Given the description of an element on the screen output the (x, y) to click on. 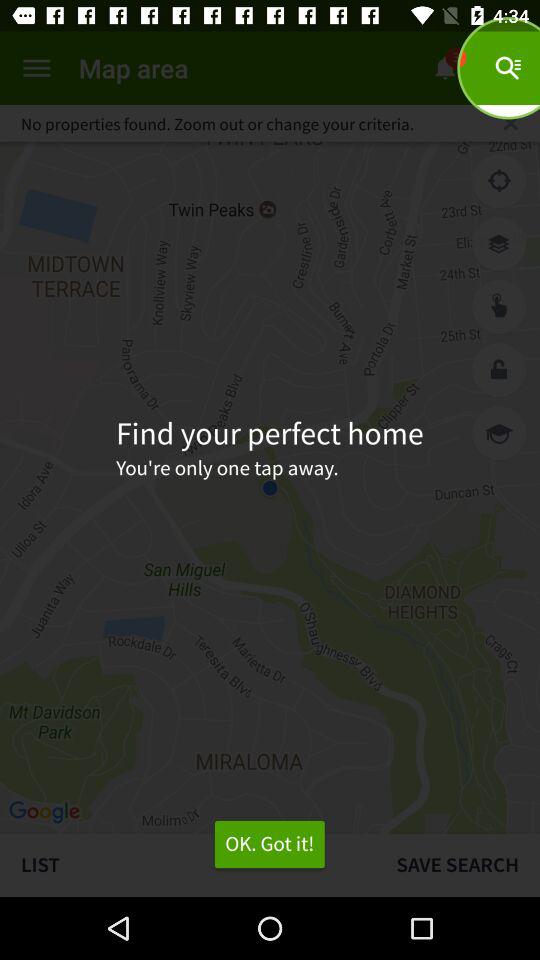
tap list (187, 864)
